Given the description of an element on the screen output the (x, y) to click on. 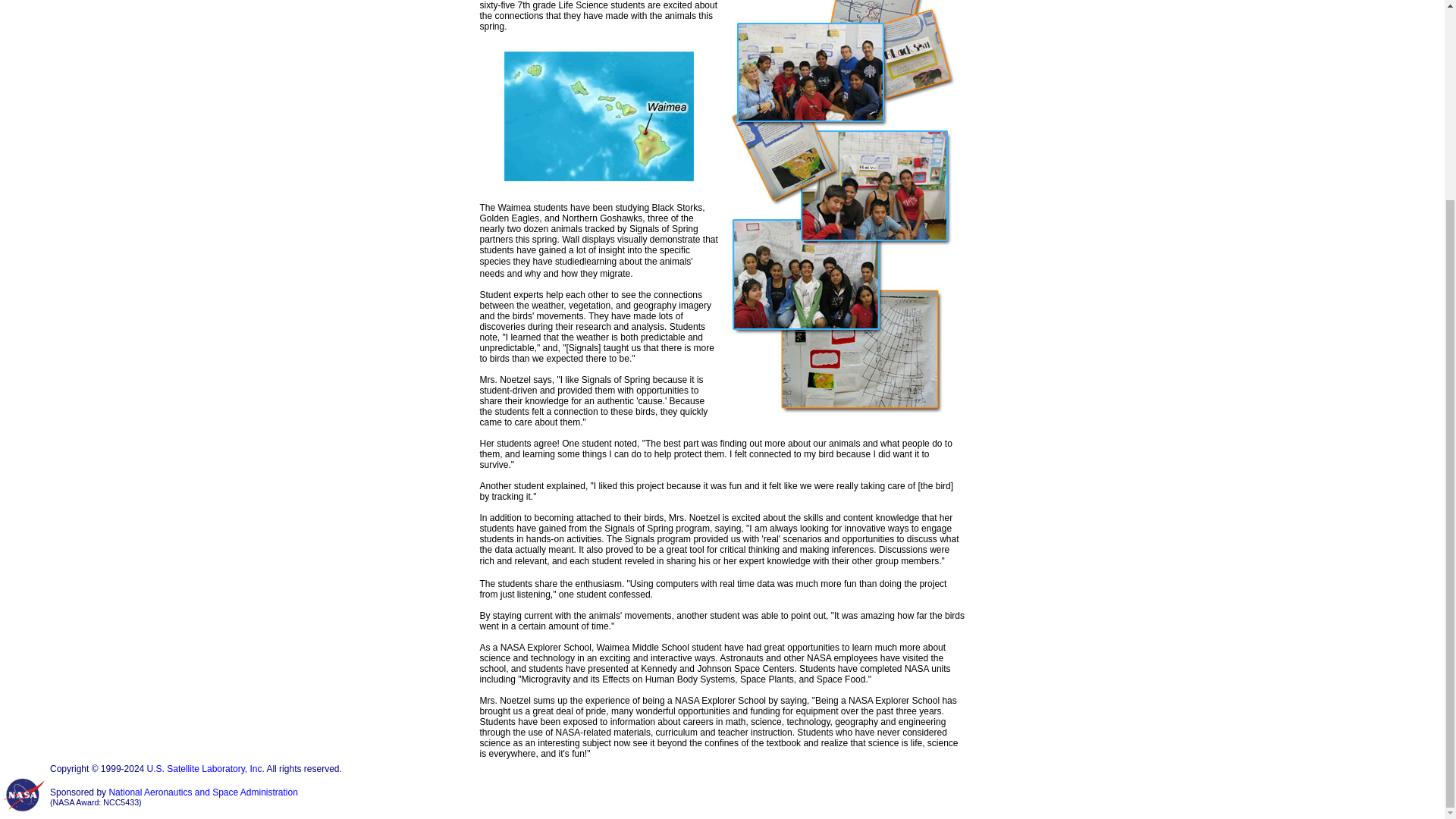
National Aeronautics and Space Administration (202, 792)
U.S. Satellite Laboratory, Inc. (205, 768)
